Given the description of an element on the screen output the (x, y) to click on. 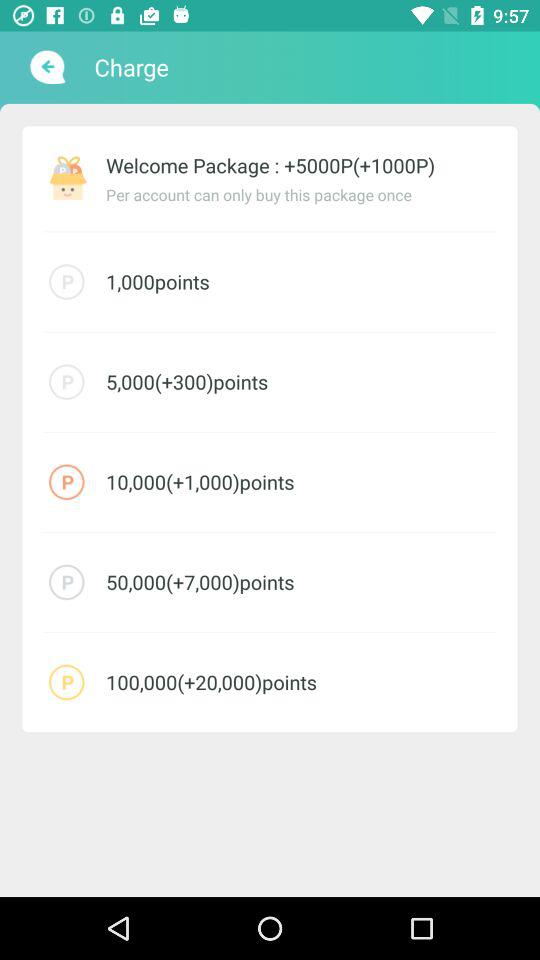
tap item next to charge (45, 67)
